Given the description of an element on the screen output the (x, y) to click on. 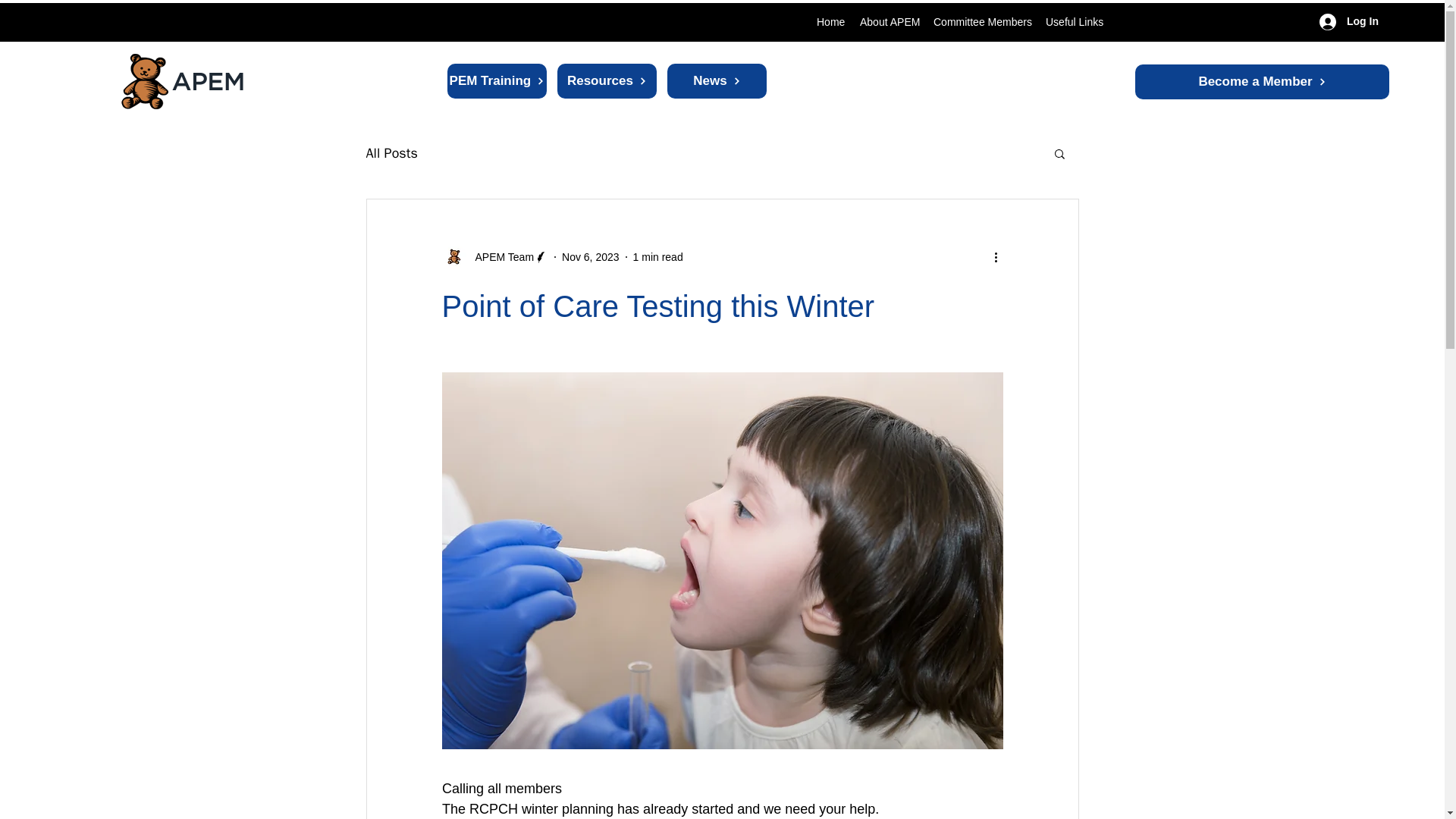
Committee Members (982, 22)
APEM Team (499, 256)
News (716, 80)
All Posts (390, 153)
About APEM (888, 22)
APEM Team (494, 256)
Become a Member (1262, 81)
Home (830, 22)
Resources (606, 80)
PEM Training (496, 80)
Nov 6, 2023 (591, 256)
1 min read (657, 256)
Useful Links (1074, 22)
Log In (1348, 22)
